Given the description of an element on the screen output the (x, y) to click on. 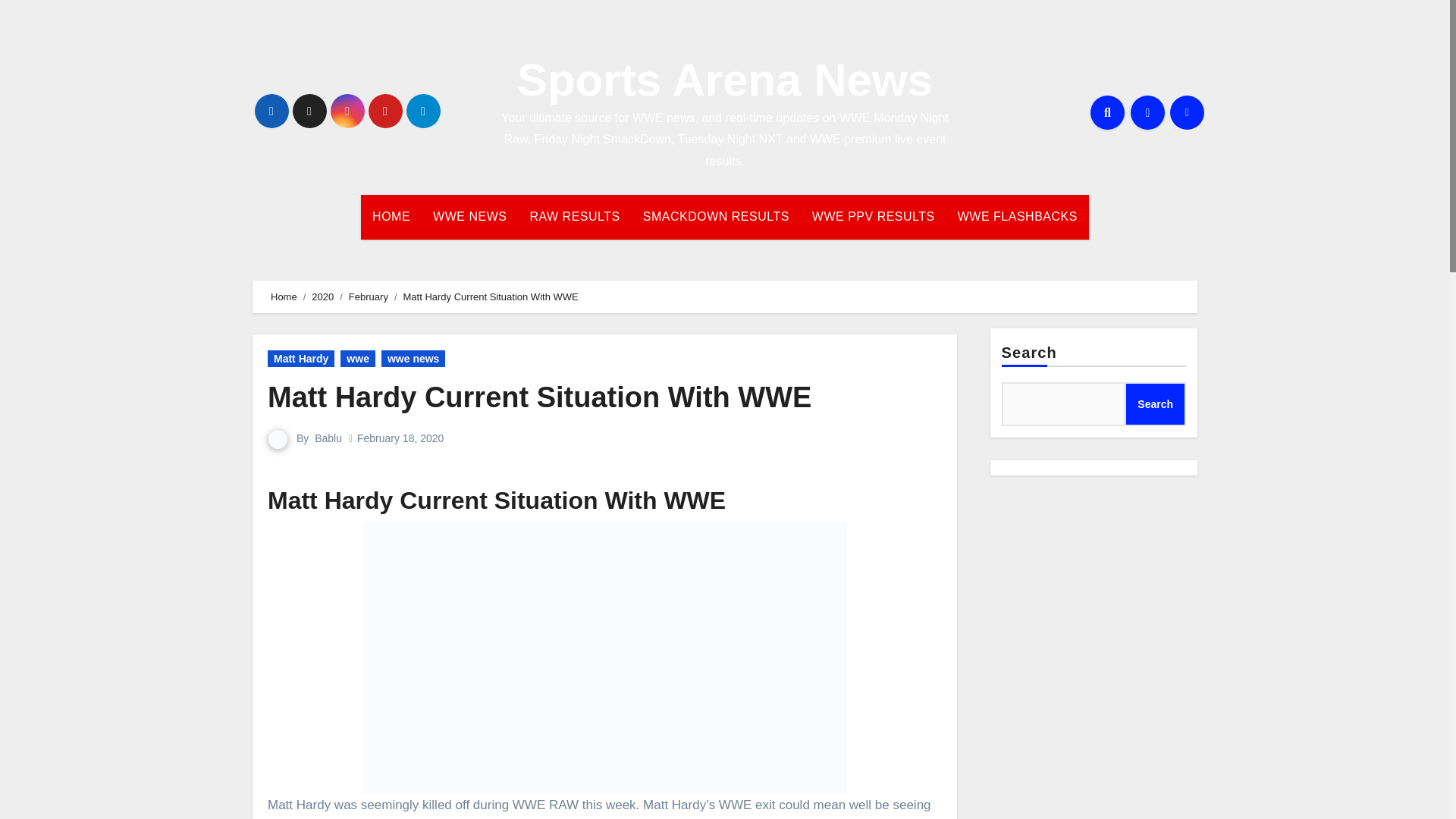
RAW RESULTS (574, 216)
wwe news (413, 358)
WWE FLASHBACKS (1017, 216)
RAW RESULTS (574, 216)
2020 (322, 296)
February 18, 2020 (400, 438)
February (368, 296)
wwe (357, 358)
Permalink to: Matt Hardy Current Situation With WWE (538, 397)
Matt Hardy Current Situation With WWE  (604, 657)
